Given the description of an element on the screen output the (x, y) to click on. 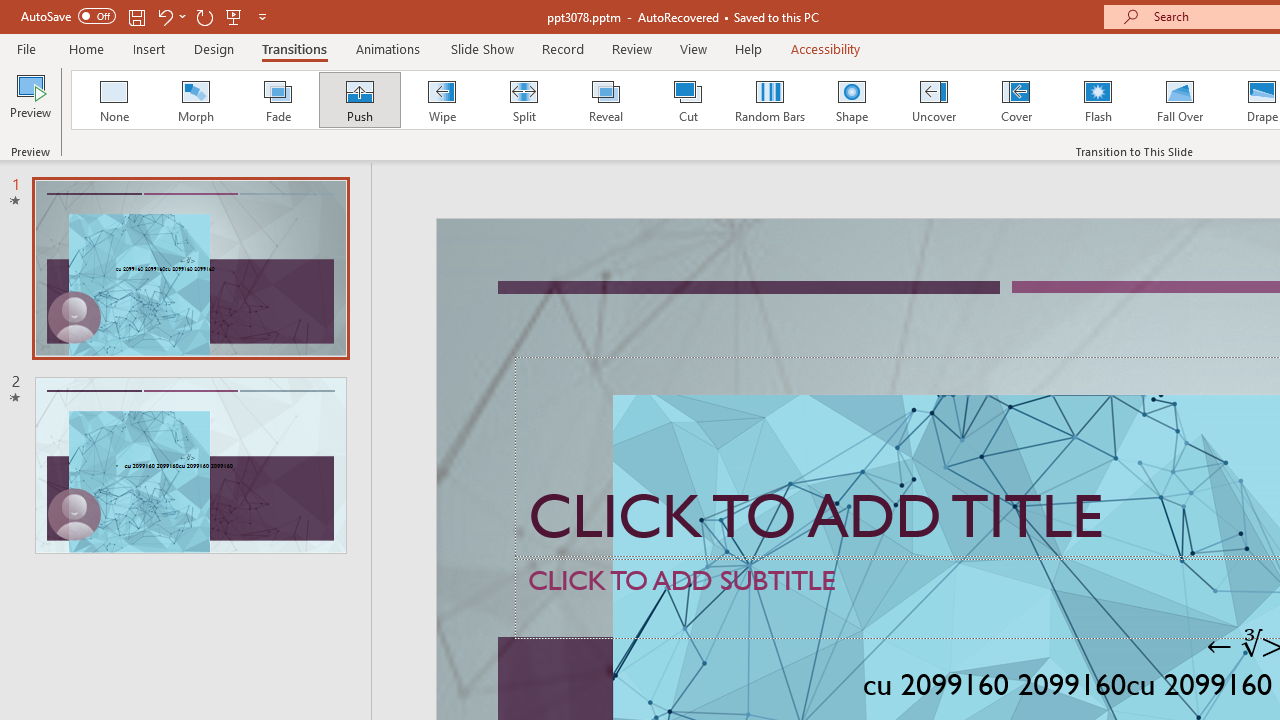
Random Bars (770, 100)
Shape (852, 100)
Fall Over (1180, 100)
